Given the description of an element on the screen output the (x, y) to click on. 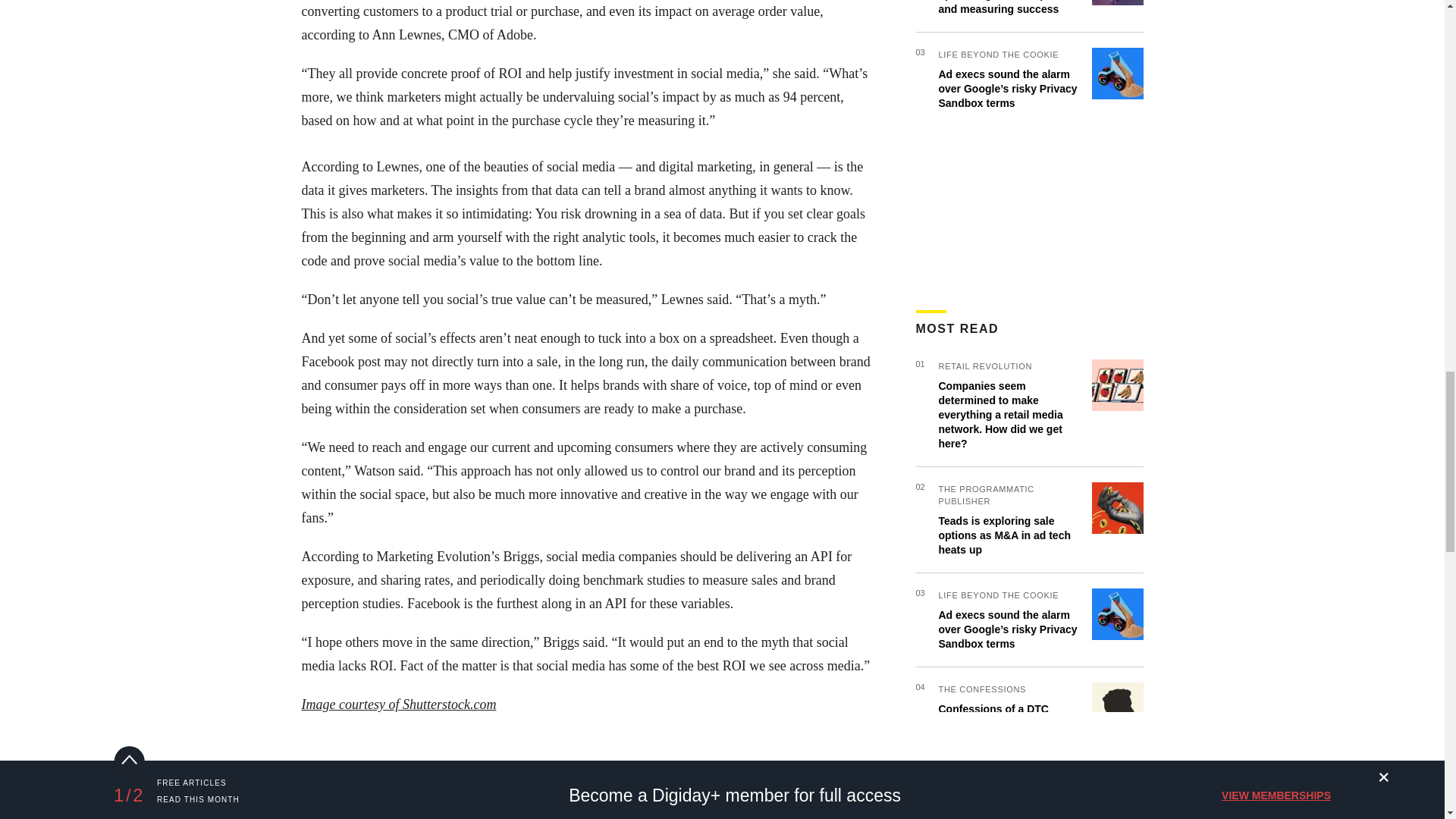
Share on Reddit (440, 750)
Share on LinkedIn (398, 750)
Share on Twitter (357, 750)
Share on Facebook (316, 750)
